Given the description of an element on the screen output the (x, y) to click on. 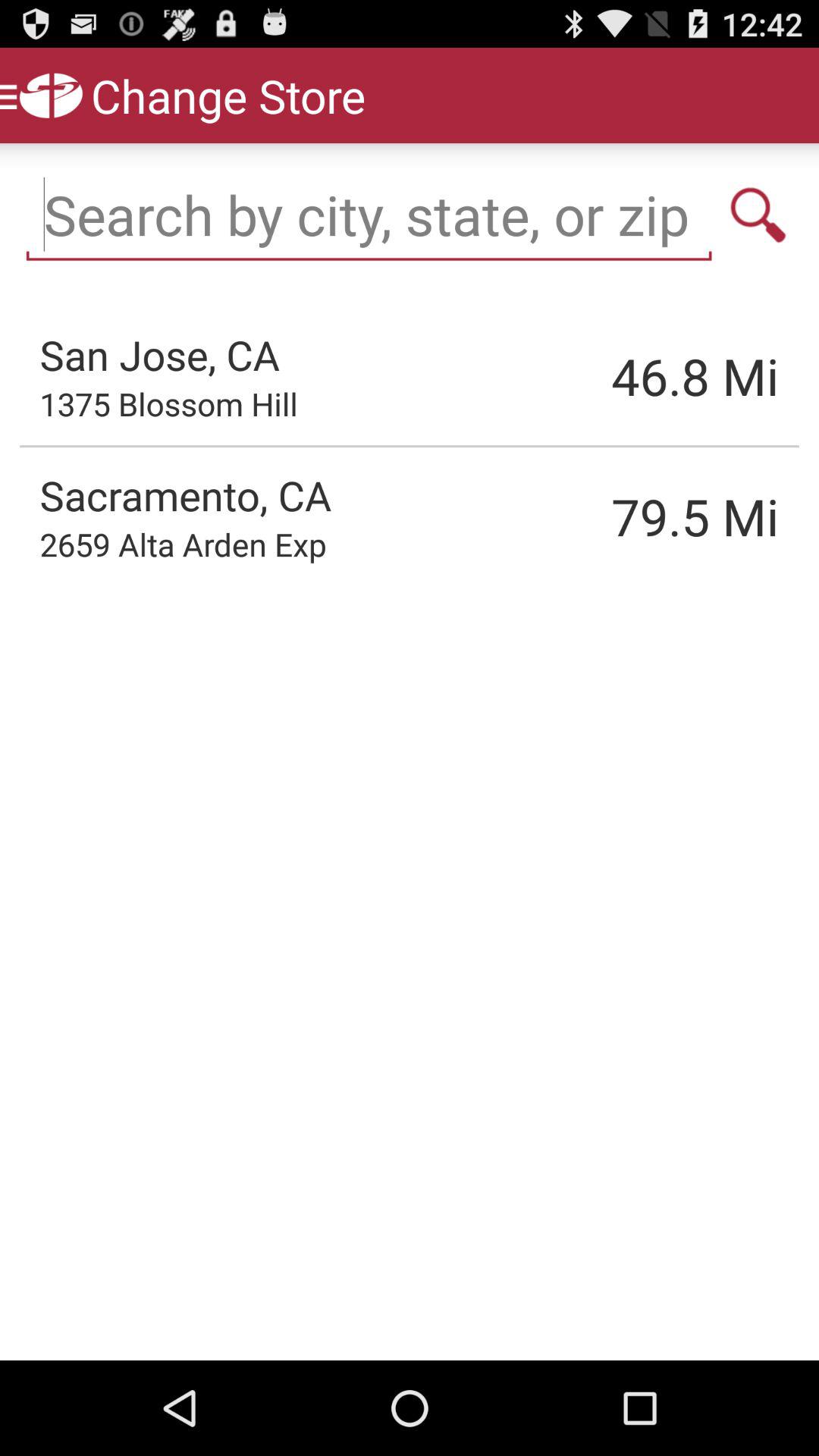
enter keywords to search (368, 215)
